Given the description of an element on the screen output the (x, y) to click on. 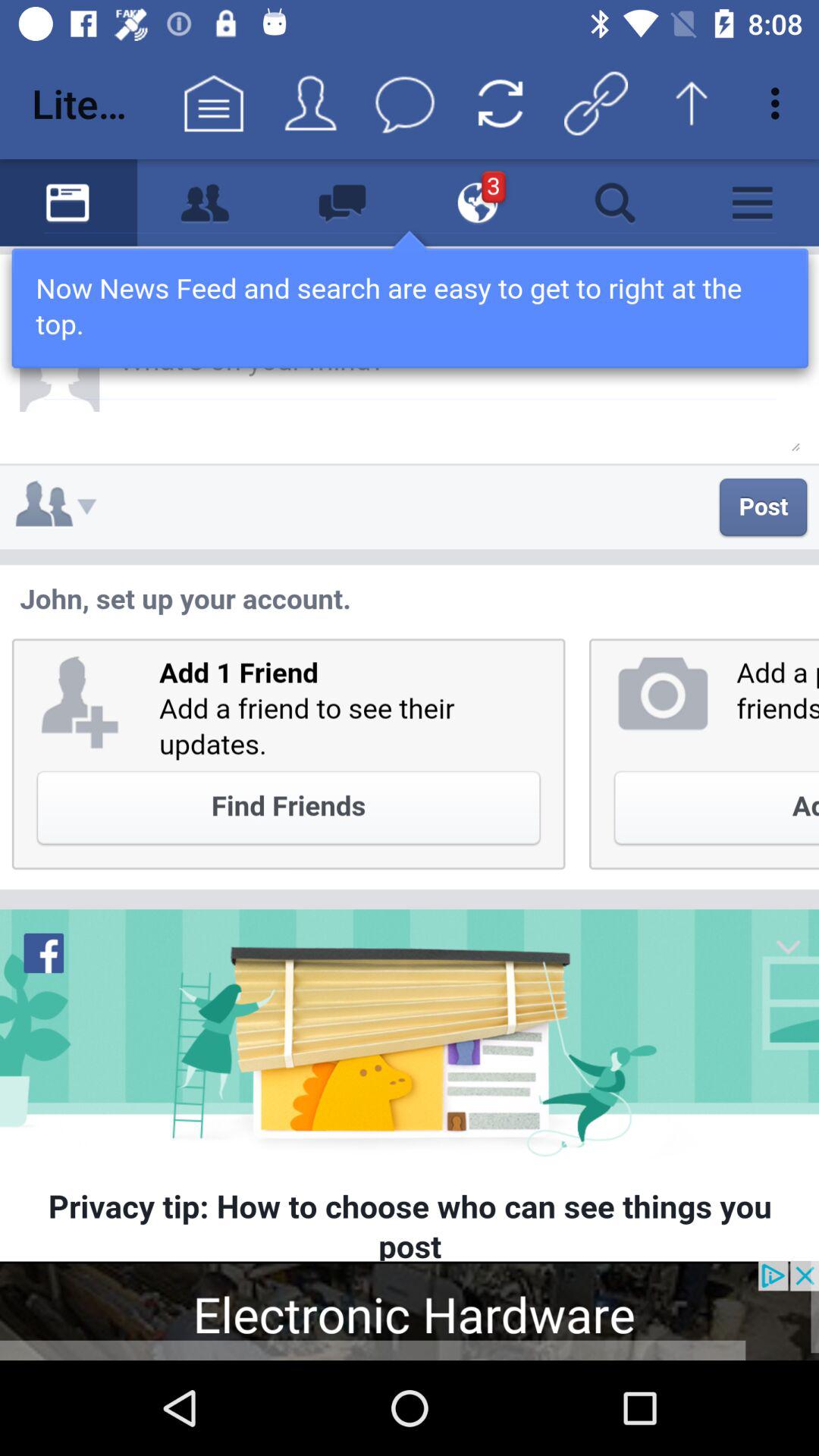
facebook feed (409, 709)
